Given the description of an element on the screen output the (x, y) to click on. 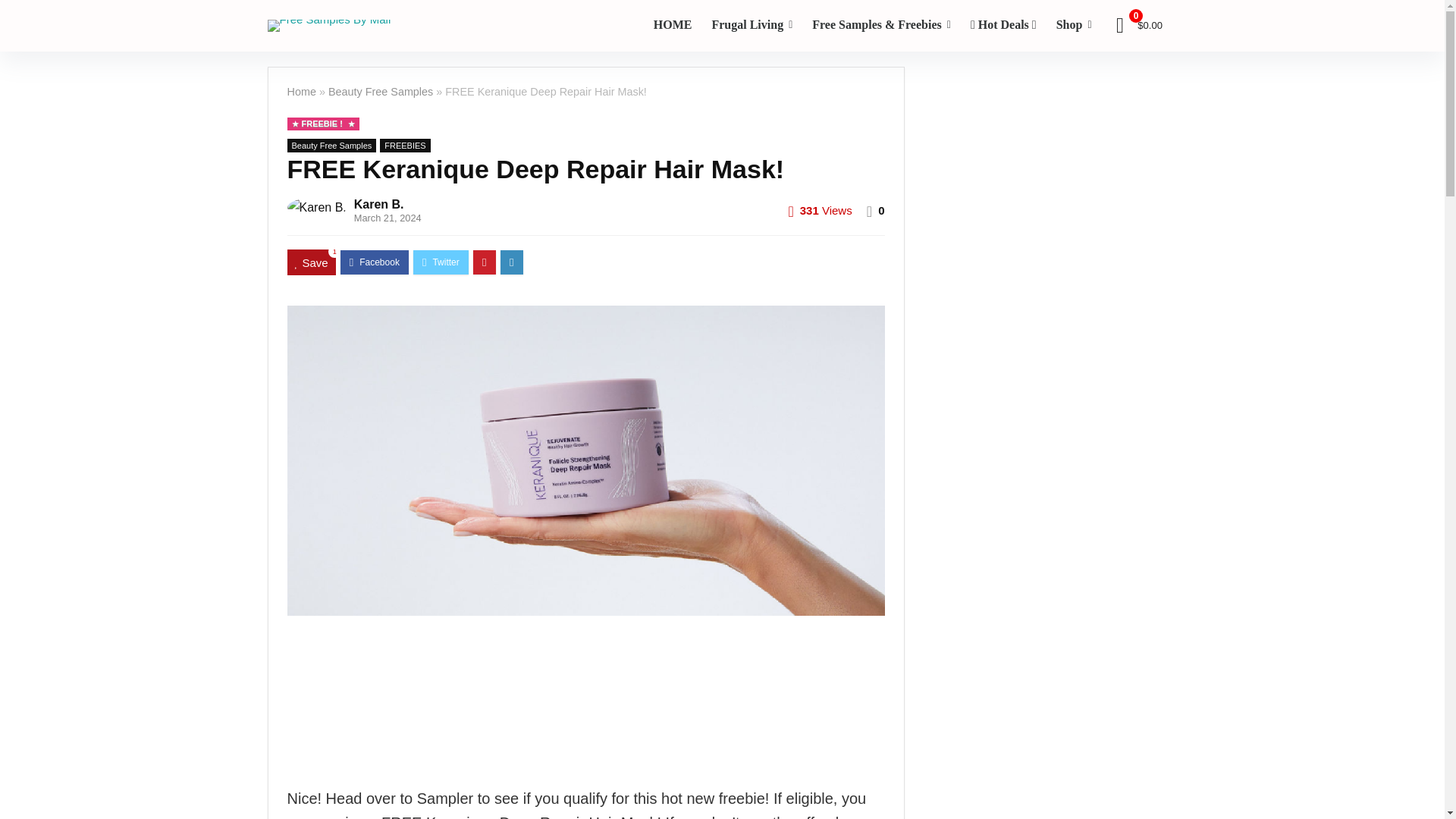
Beauty Free Samples (380, 91)
FREEBIES (404, 145)
View all posts in FREEBIES (404, 145)
Karen B. (378, 204)
Beauty Free Samples (330, 145)
HOME (672, 25)
View all posts in Beauty Free Samples (330, 145)
Home (300, 91)
Shop (1074, 25)
Frugal Living (751, 25)
